Given the description of an element on the screen output the (x, y) to click on. 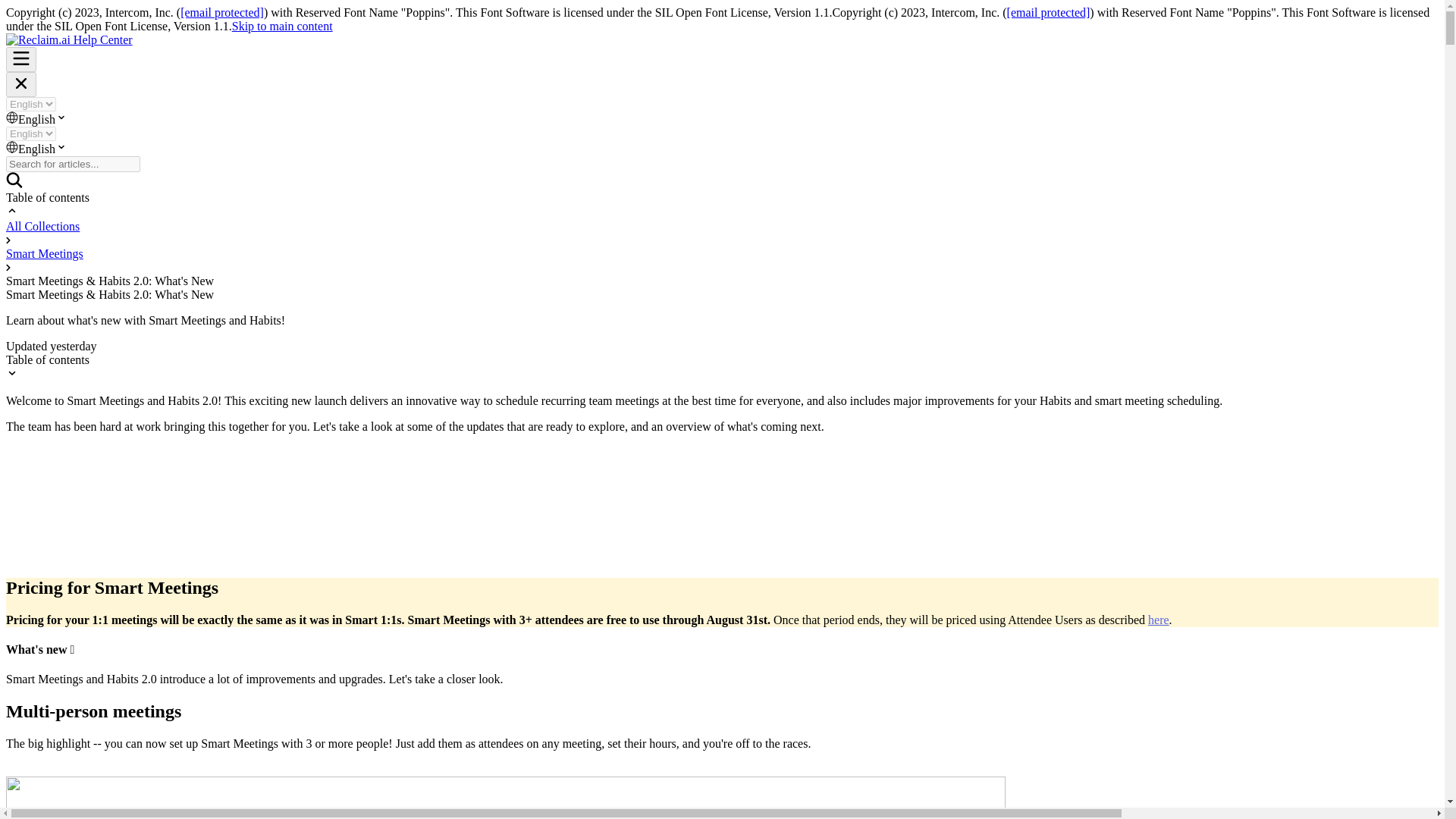
Skip to main content (282, 25)
Smart Meetings (43, 253)
All Collections (42, 226)
